Given the description of an element on the screen output the (x, y) to click on. 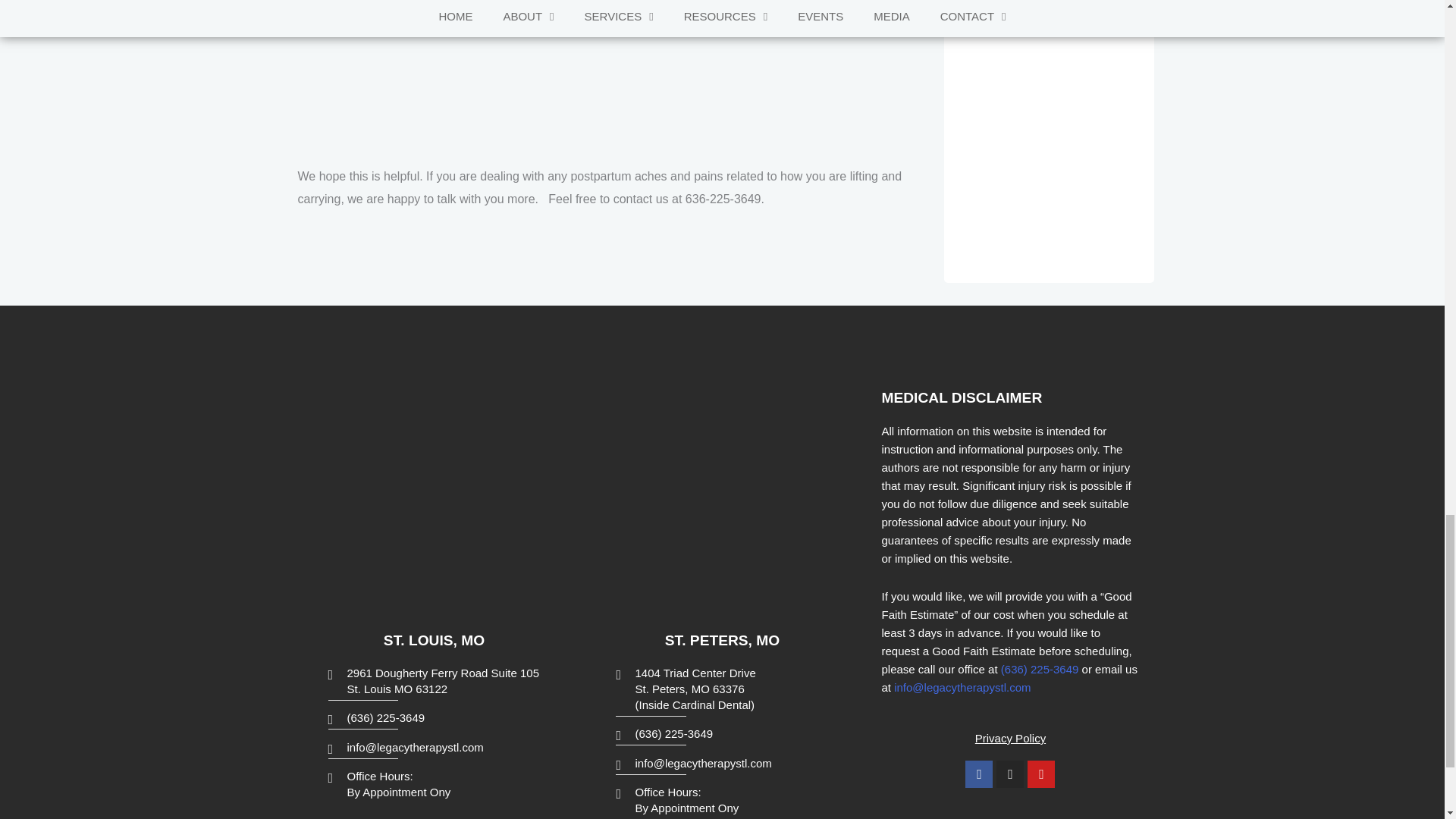
Self Care (616, 82)
